Given the description of an element on the screen output the (x, y) to click on. 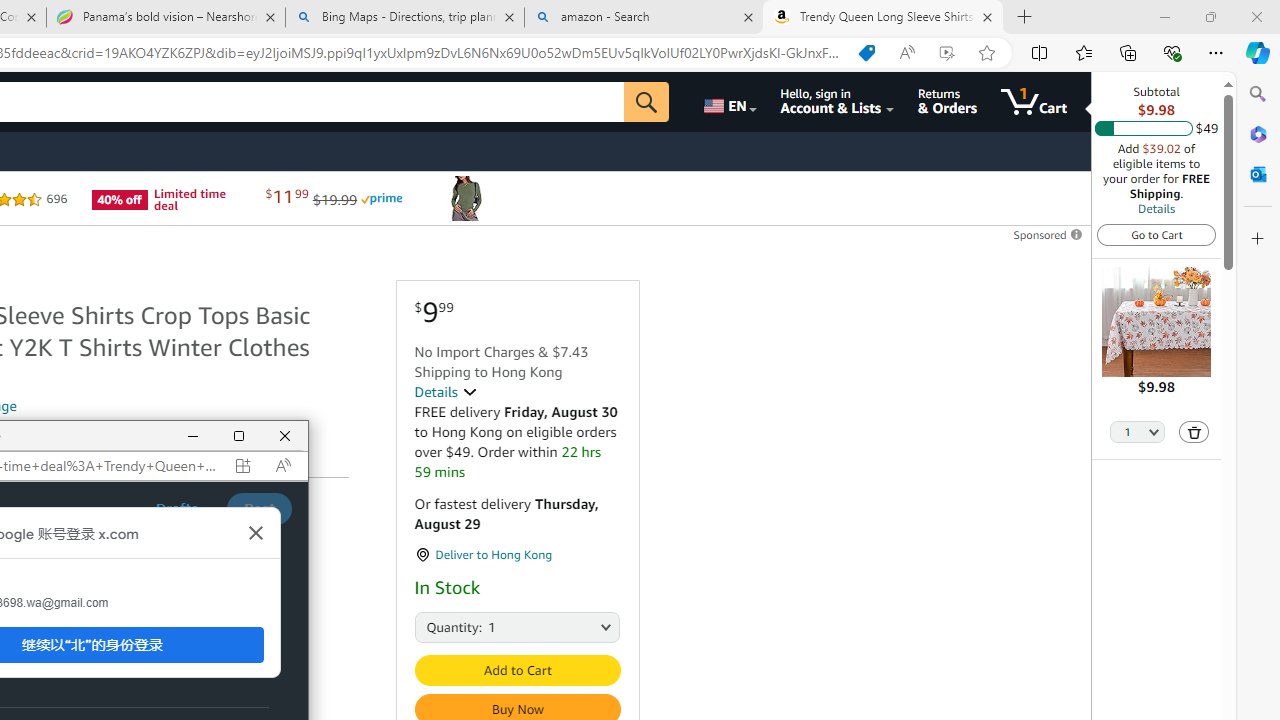
Details  (445, 391)
